Given the description of an element on the screen output the (x, y) to click on. 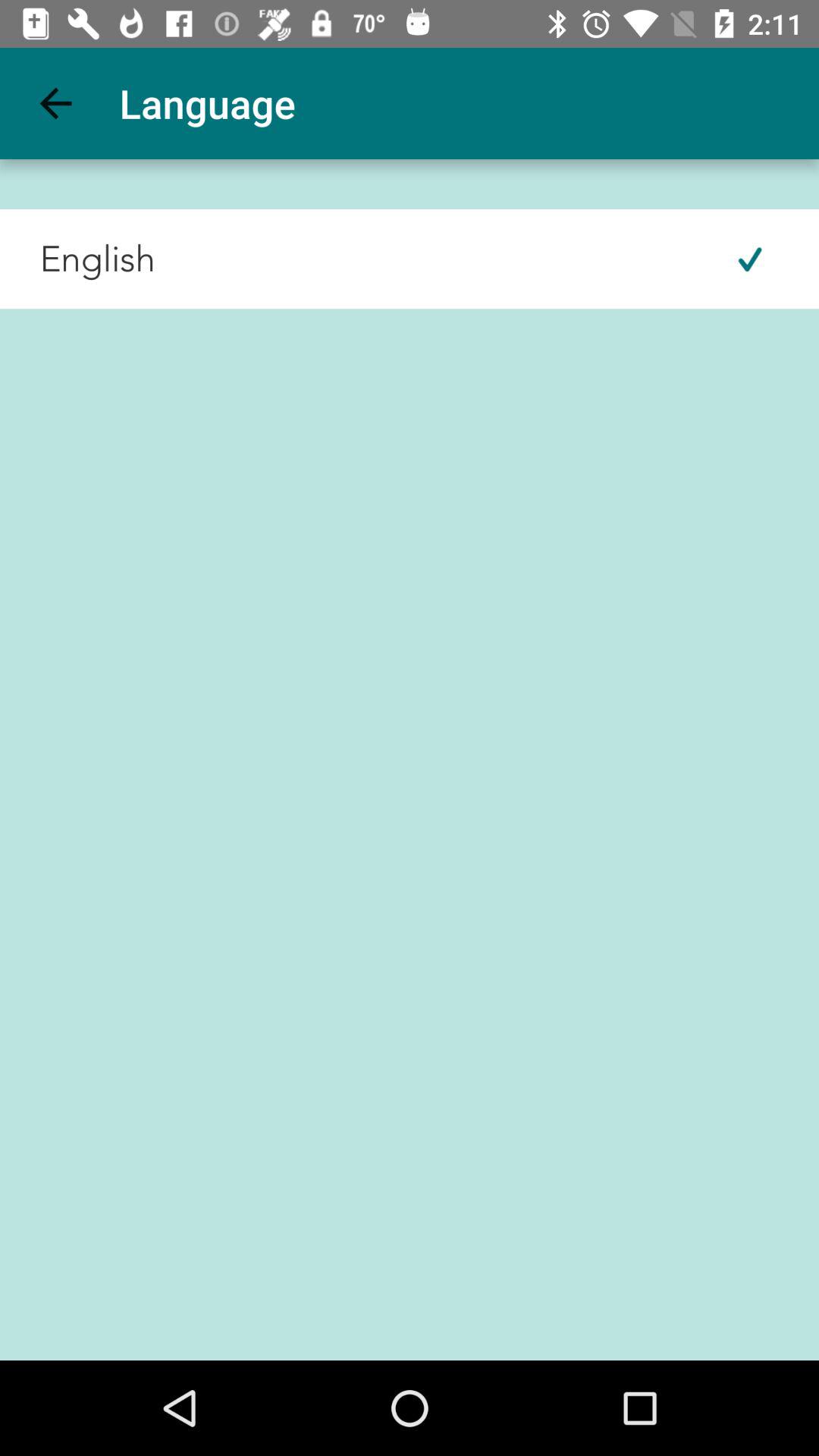
select icon to the right of the english icon (749, 258)
